Given the description of an element on the screen output the (x, y) to click on. 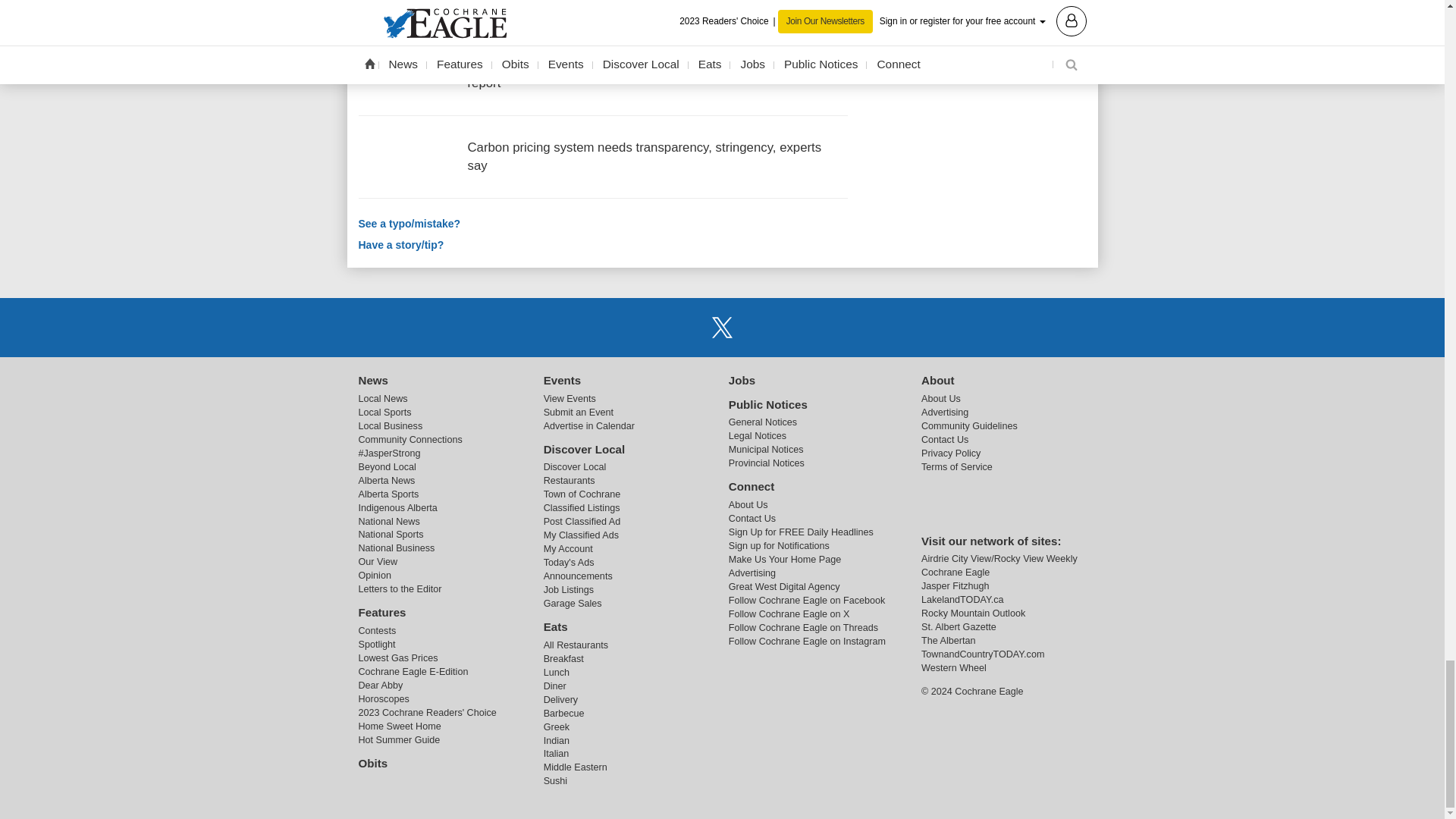
Instagram (760, 326)
X (721, 326)
Facebook (683, 326)
